Given the description of an element on the screen output the (x, y) to click on. 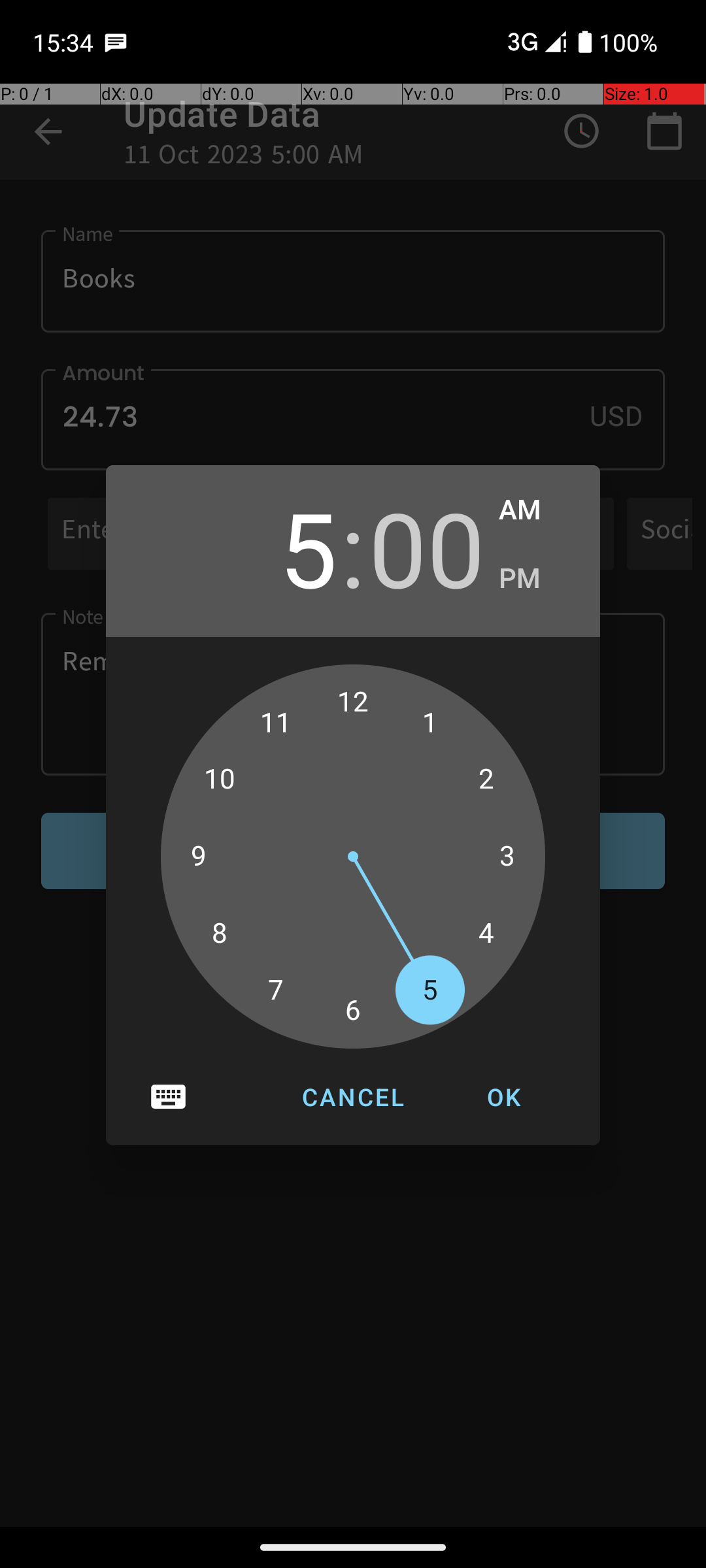
11 Element type: android.widget.RadialTimePickerView$RadialPickerTouchHelper (275, 722)
12 Element type: android.widget.RadialTimePickerView$RadialPickerTouchHelper (352, 701)
CANCEL Element type: android.widget.Button (352, 1096)
AM Element type: android.widget.RadioButton (535, 510)
PM Element type: android.widget.RadioButton (535, 578)
